Given the description of an element on the screen output the (x, y) to click on. 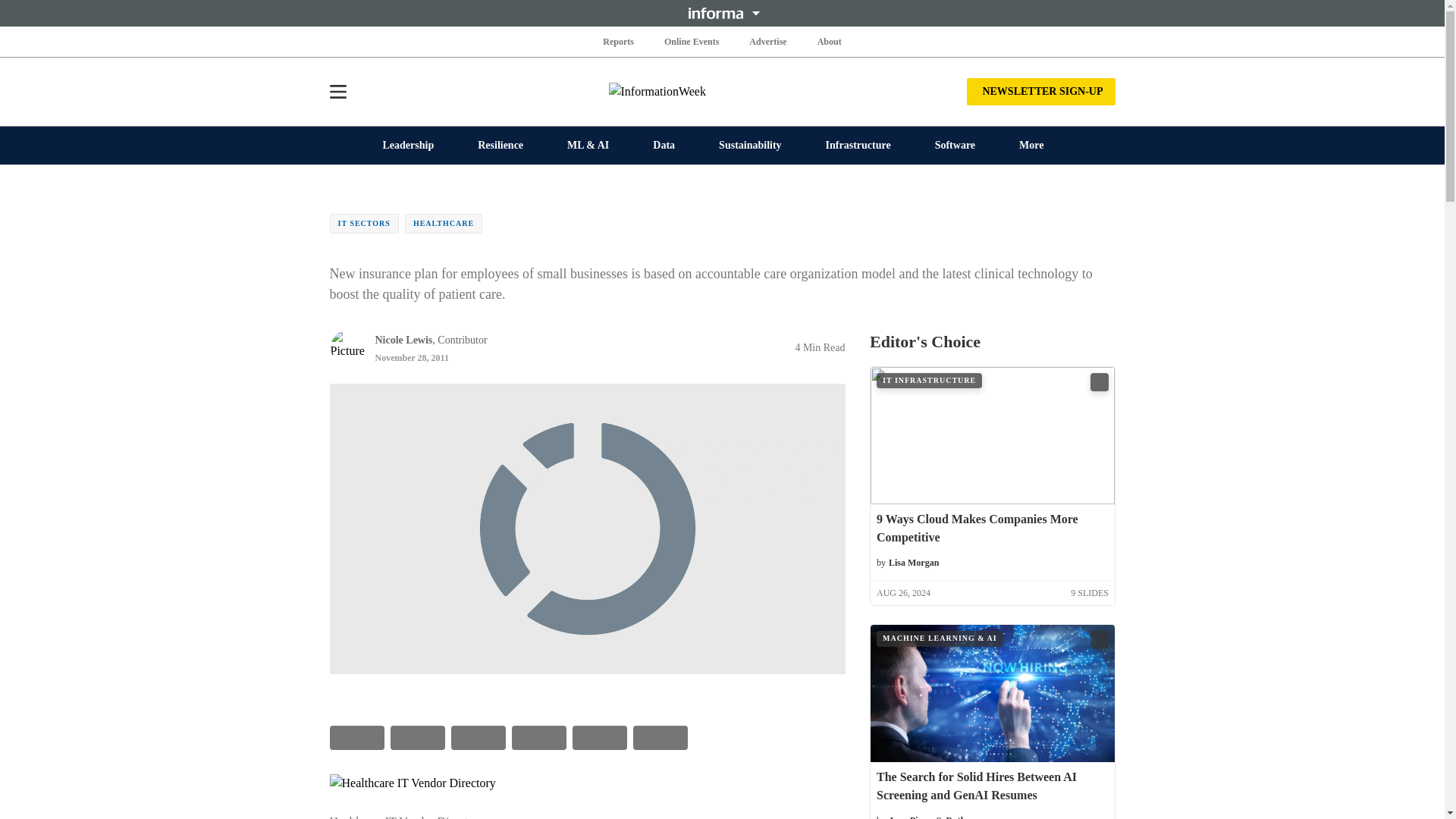
InformationWeek (721, 91)
NEWSLETTER SIGN-UP (1040, 90)
Reports (618, 41)
About (828, 41)
Online Events (691, 41)
Advertise (767, 41)
